Given the description of an element on the screen output the (x, y) to click on. 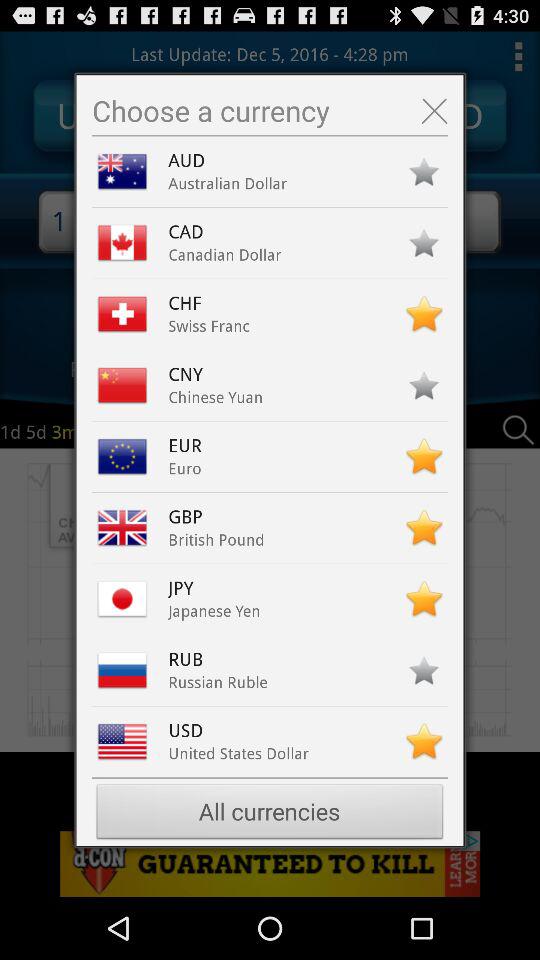
turn off british pound item (216, 539)
